Given the description of an element on the screen output the (x, y) to click on. 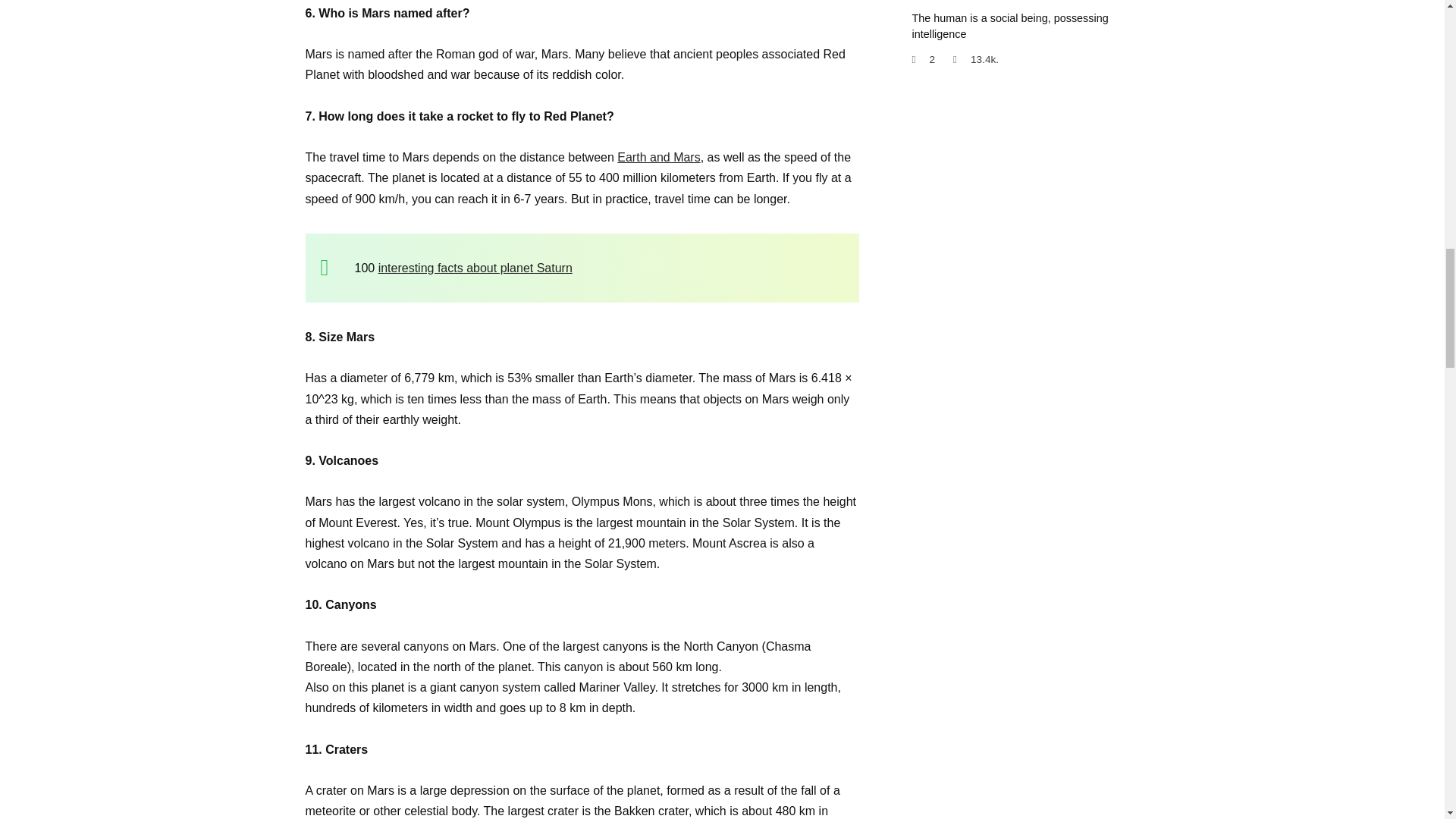
interesting facts about planet Saturn (475, 267)
Earth and Mars (658, 156)
